Given the description of an element on the screen output the (x, y) to click on. 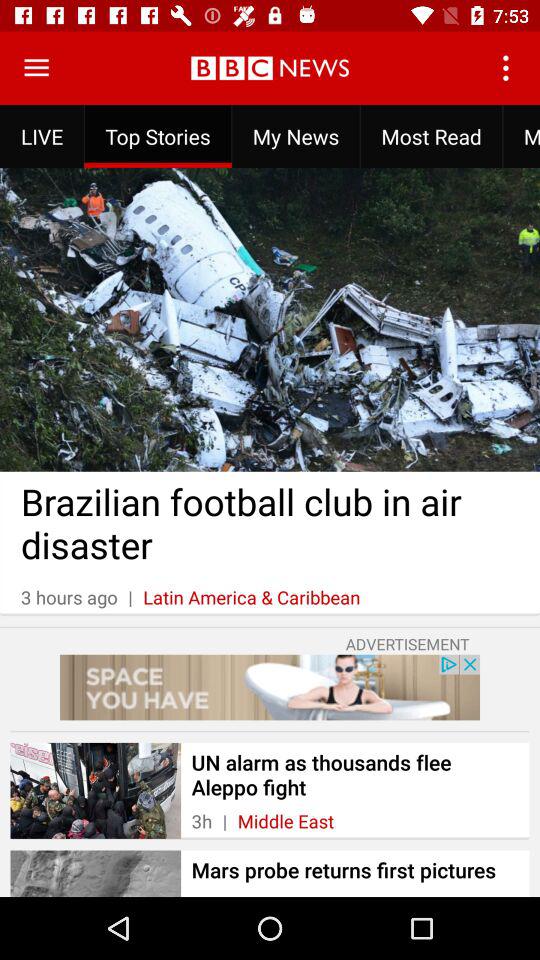
enter app options (36, 68)
